Given the description of an element on the screen output the (x, y) to click on. 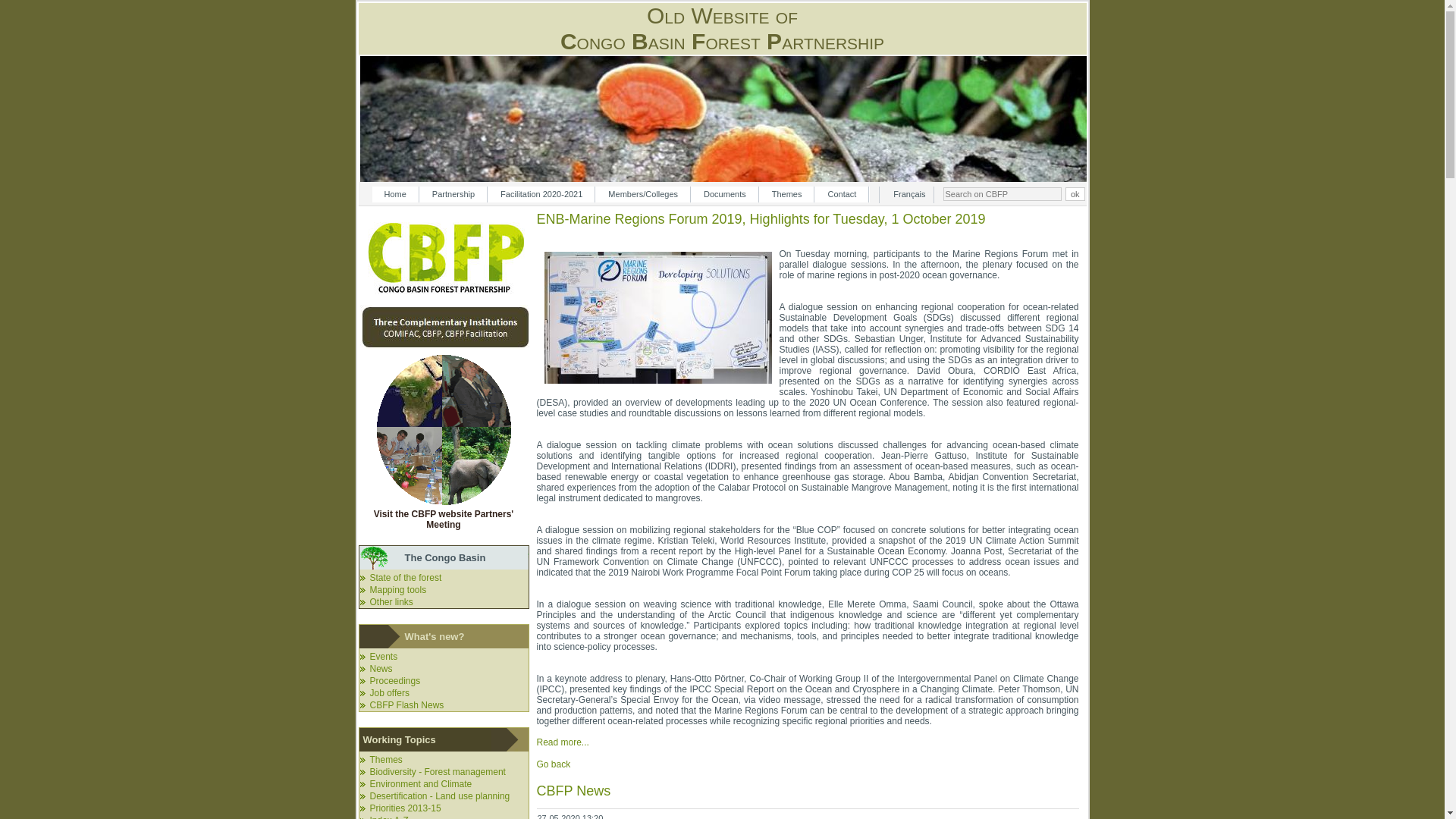
Documents (724, 194)
ok (1074, 193)
Themes (786, 194)
ok (1074, 193)
Home (394, 194)
Facilitation 2020-2021 (540, 194)
Skip navigation (383, 189)
Partnership (453, 194)
Contact (841, 194)
Partnership (453, 194)
